Given the description of an element on the screen output the (x, y) to click on. 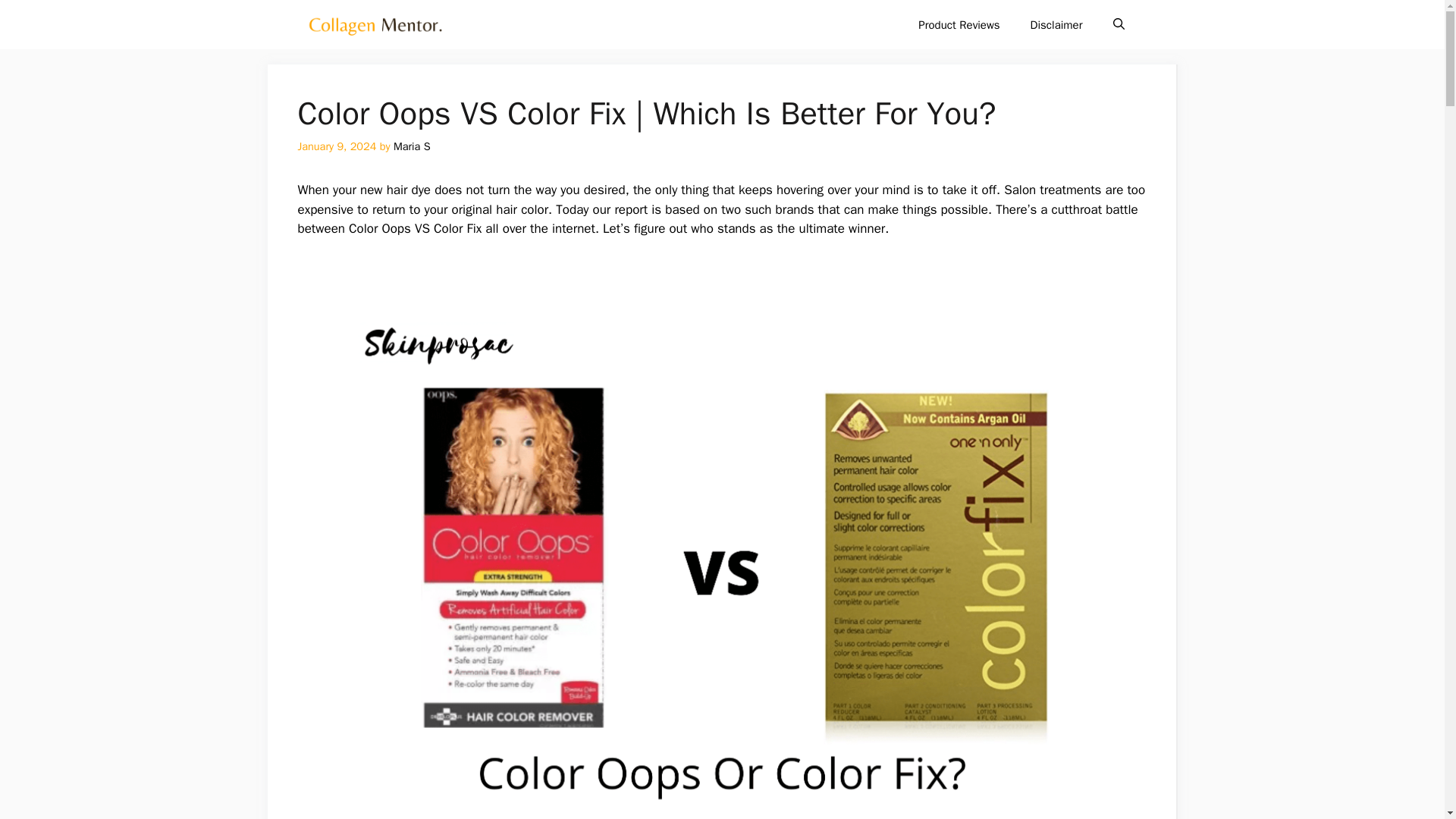
Disclaimer (1055, 23)
Product Reviews (958, 23)
Collagen Mentor (374, 24)
Maria S (411, 146)
View all posts by Maria S (411, 146)
